Given the description of an element on the screen output the (x, y) to click on. 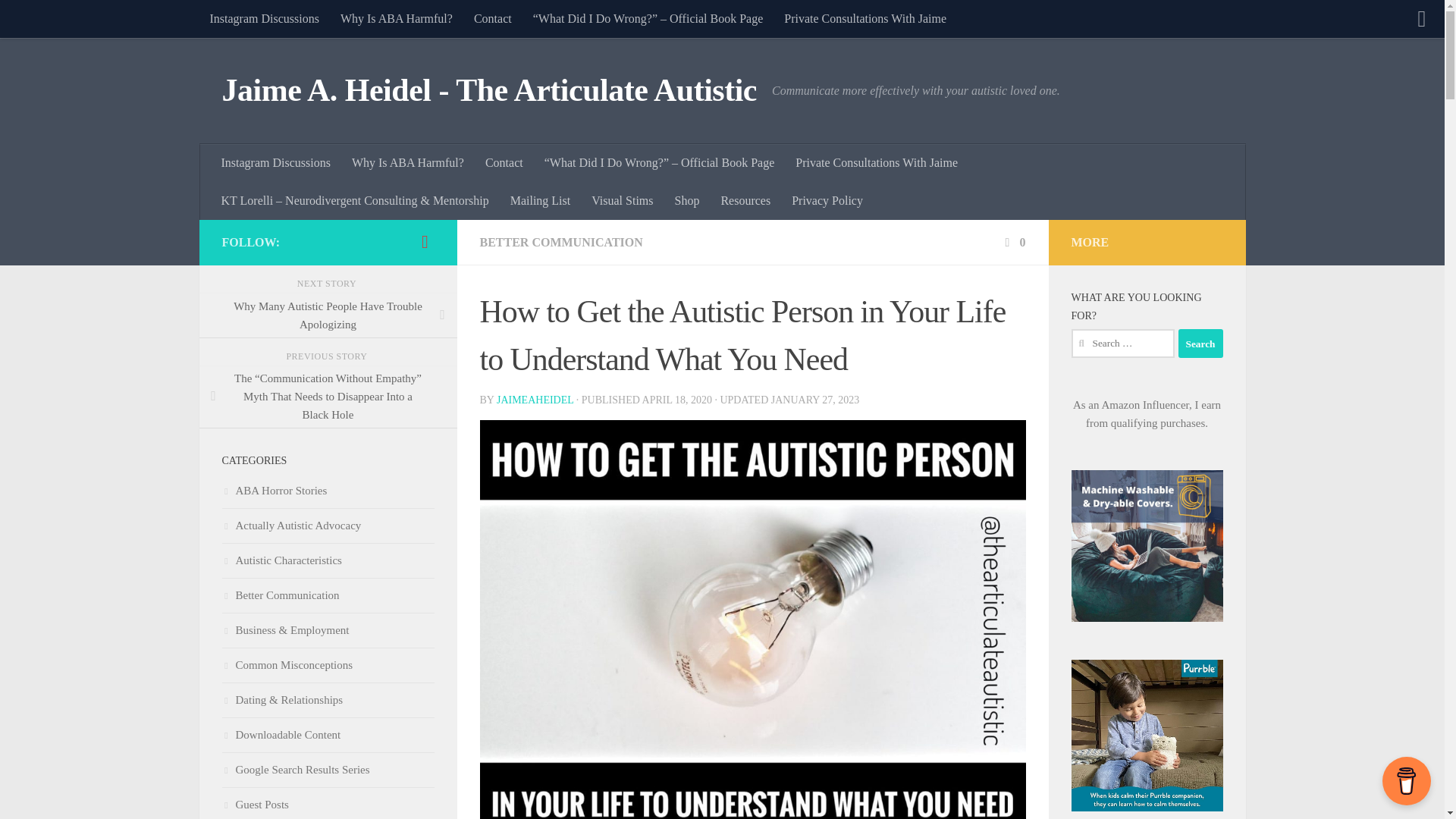
Contact (504, 162)
Jaime A. Heidel - The Articulate Autistic (488, 90)
Search (1200, 343)
Private Consultations With Jaime (864, 18)
Posts by jaimeaheidel (534, 399)
Search (1200, 343)
Visual Stims (621, 200)
Instagram (423, 241)
Instagram Discussions (263, 18)
Why Is ABA Harmful? (396, 18)
Contact (492, 18)
Privacy Policy (826, 200)
Mailing List (539, 200)
Shop (686, 200)
Private Consultations With Jaime (876, 162)
